Given the description of an element on the screen output the (x, y) to click on. 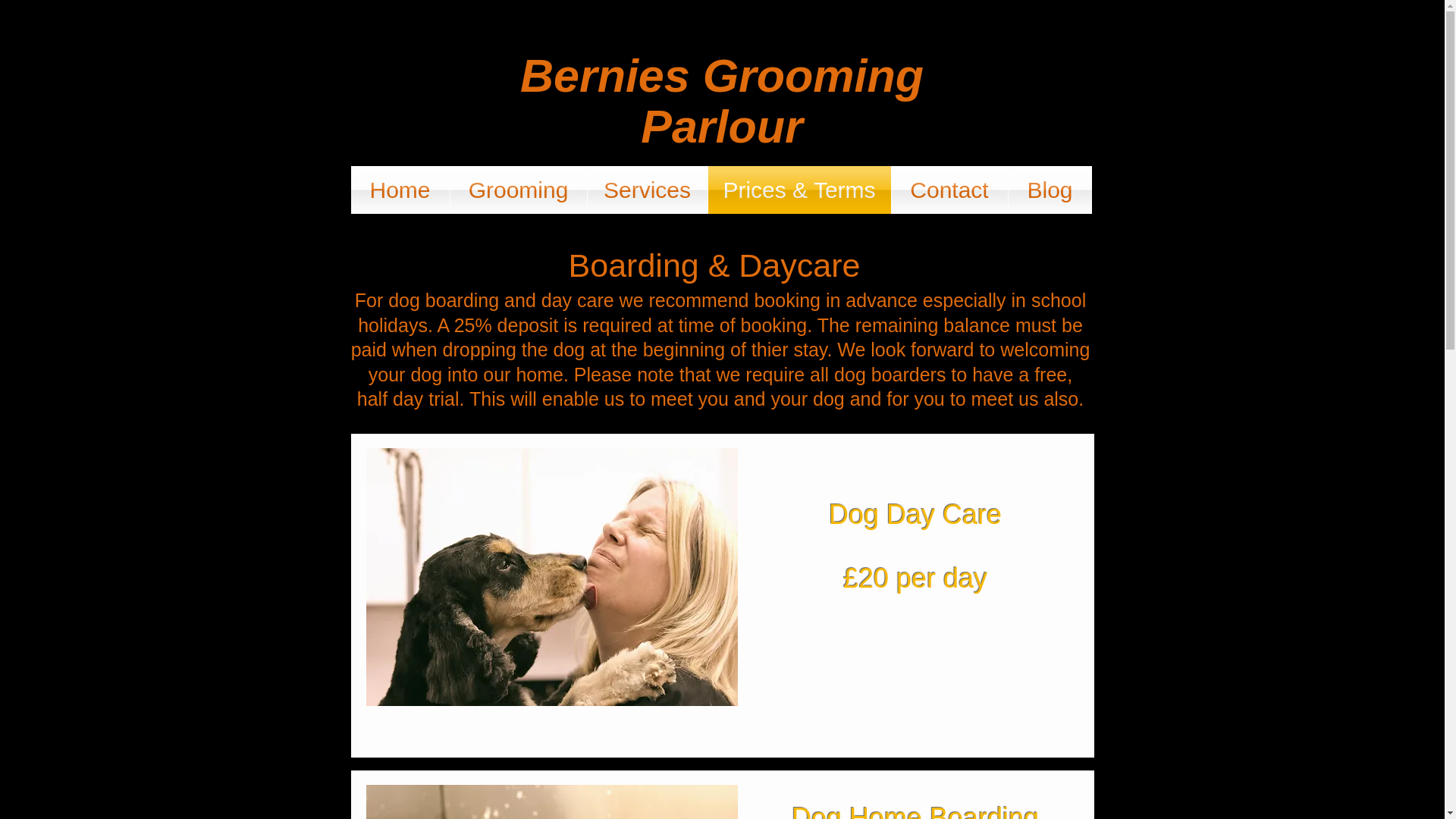
Services (646, 189)
Grooming (517, 189)
Home (399, 189)
Blog (1050, 189)
Contact (949, 189)
